Given the description of an element on the screen output the (x, y) to click on. 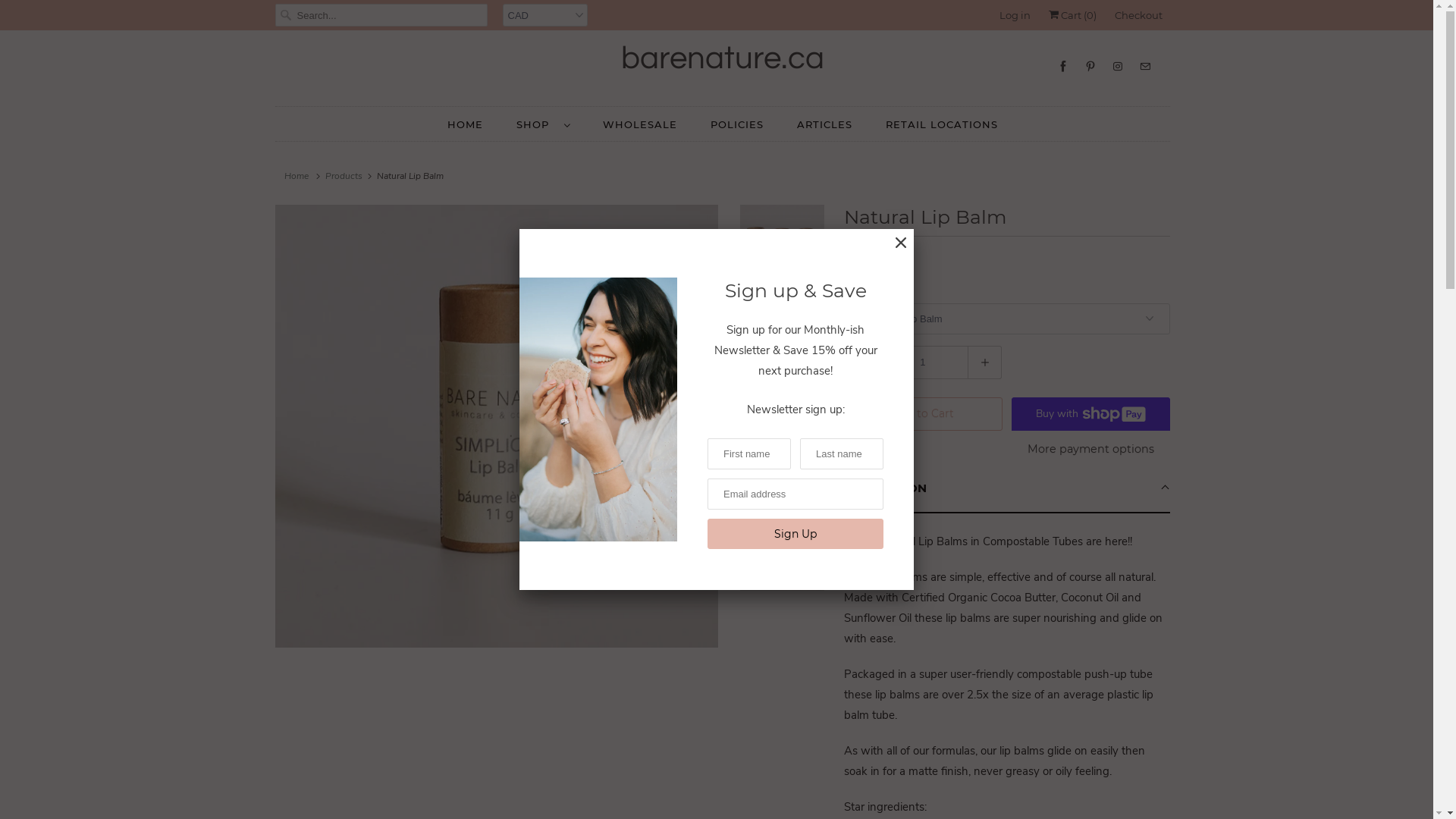
RETAIL LOCATIONS Element type: text (941, 124)
HOME Element type: text (465, 124)
barenature.ca on Instagram Element type: hover (1116, 66)
Close Element type: hover (900, 242)
Sign Up Element type: text (795, 533)
Checkout Element type: text (1138, 14)
SHOP  Element type: text (541, 124)
Add to Cart Element type: text (922, 413)
Home Element type: text (296, 175)
Products Element type: text (342, 175)
POLICIES Element type: text (735, 124)
Log in Element type: text (1014, 14)
barenature.ca on Pinterest Element type: hover (1089, 66)
barenature.ca Element type: text (721, 58)
barenature.ca on Facebook Element type: hover (1062, 66)
Email barenature.ca Element type: hover (1144, 66)
ARTICLES Element type: text (823, 124)
More payment options Element type: text (1089, 453)
WHOLESALE Element type: text (639, 124)
Cart (0) Element type: text (1071, 14)
Natural Lip Balm - barenature.ca Element type: hover (495, 425)
